Given the description of an element on the screen output the (x, y) to click on. 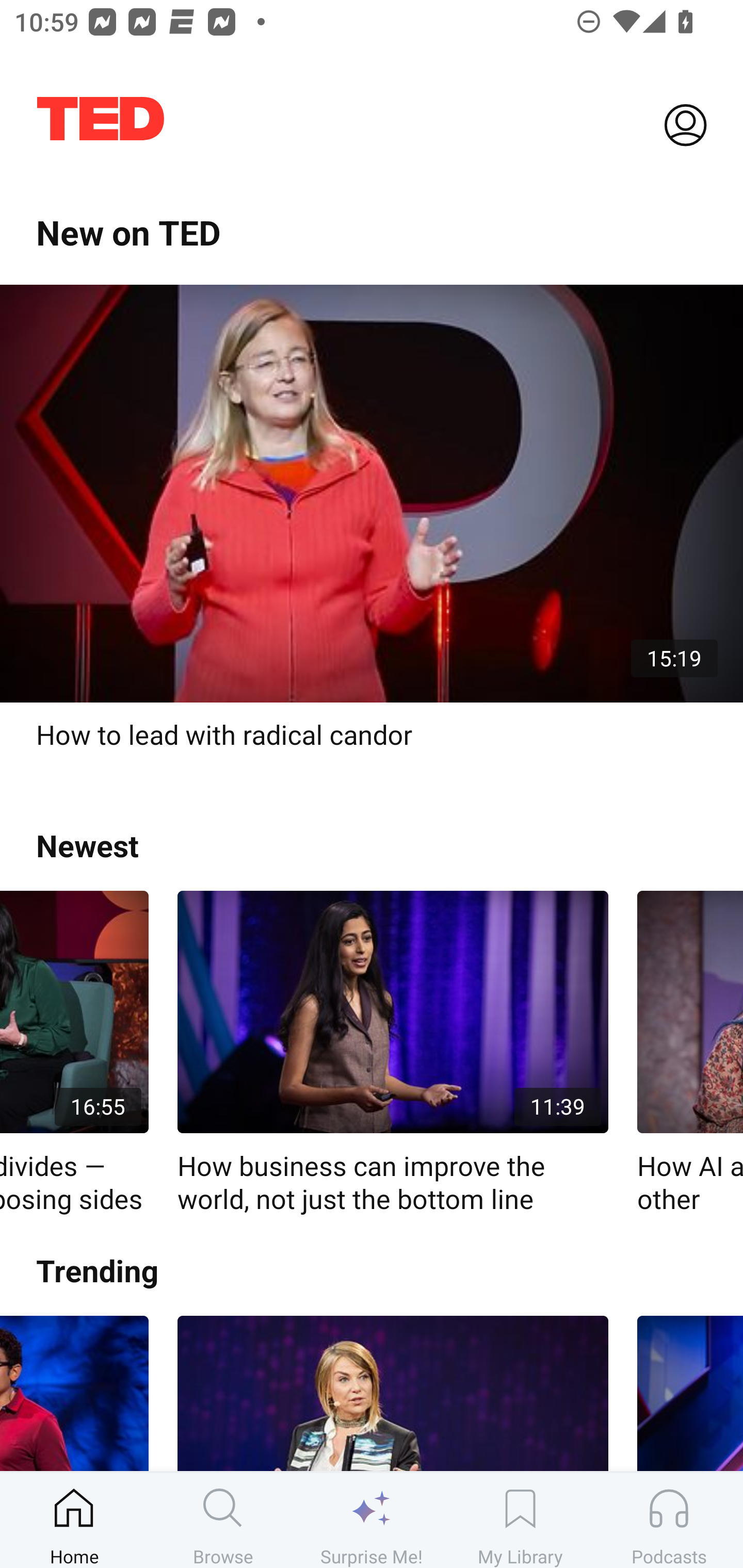
Home (74, 1520)
Browse (222, 1520)
Surprise Me! (371, 1520)
My Library (519, 1520)
Podcasts (668, 1520)
